Given the description of an element on the screen output the (x, y) to click on. 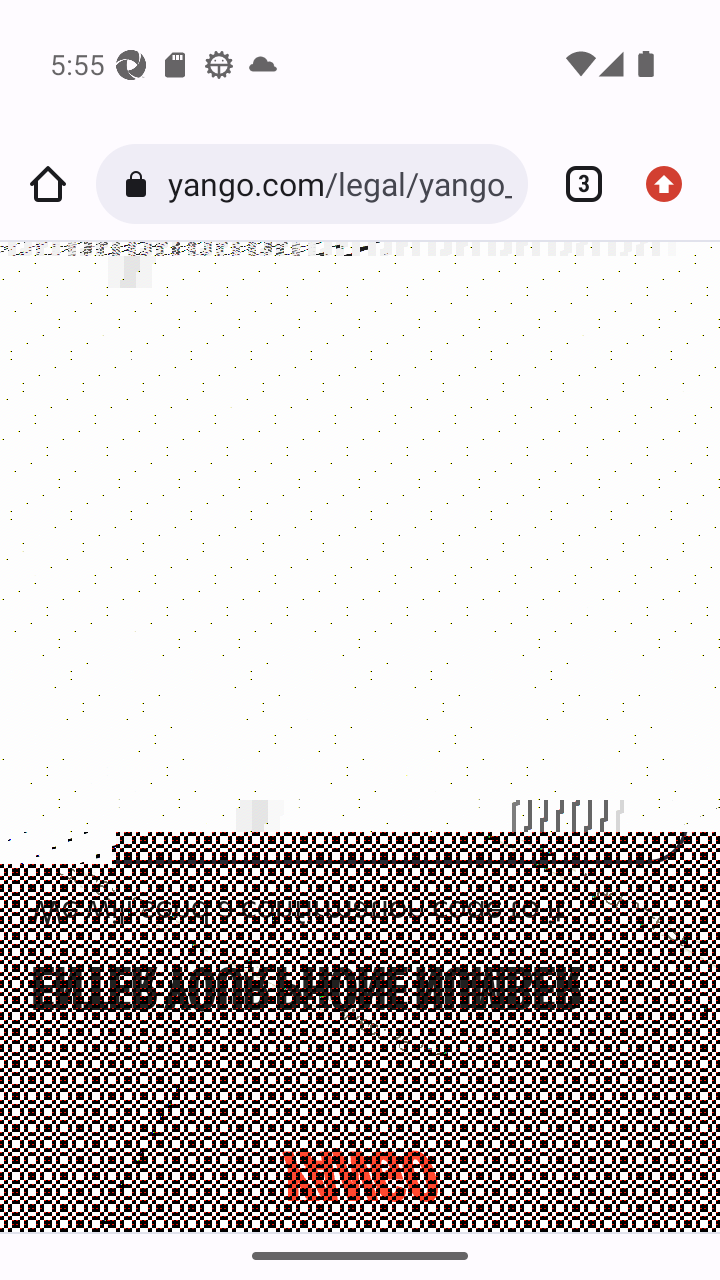
Home (47, 184)
Connection is secure (139, 184)
Switch or close tabs (575, 184)
Update available. More options (672, 184)
